Given the description of an element on the screen output the (x, y) to click on. 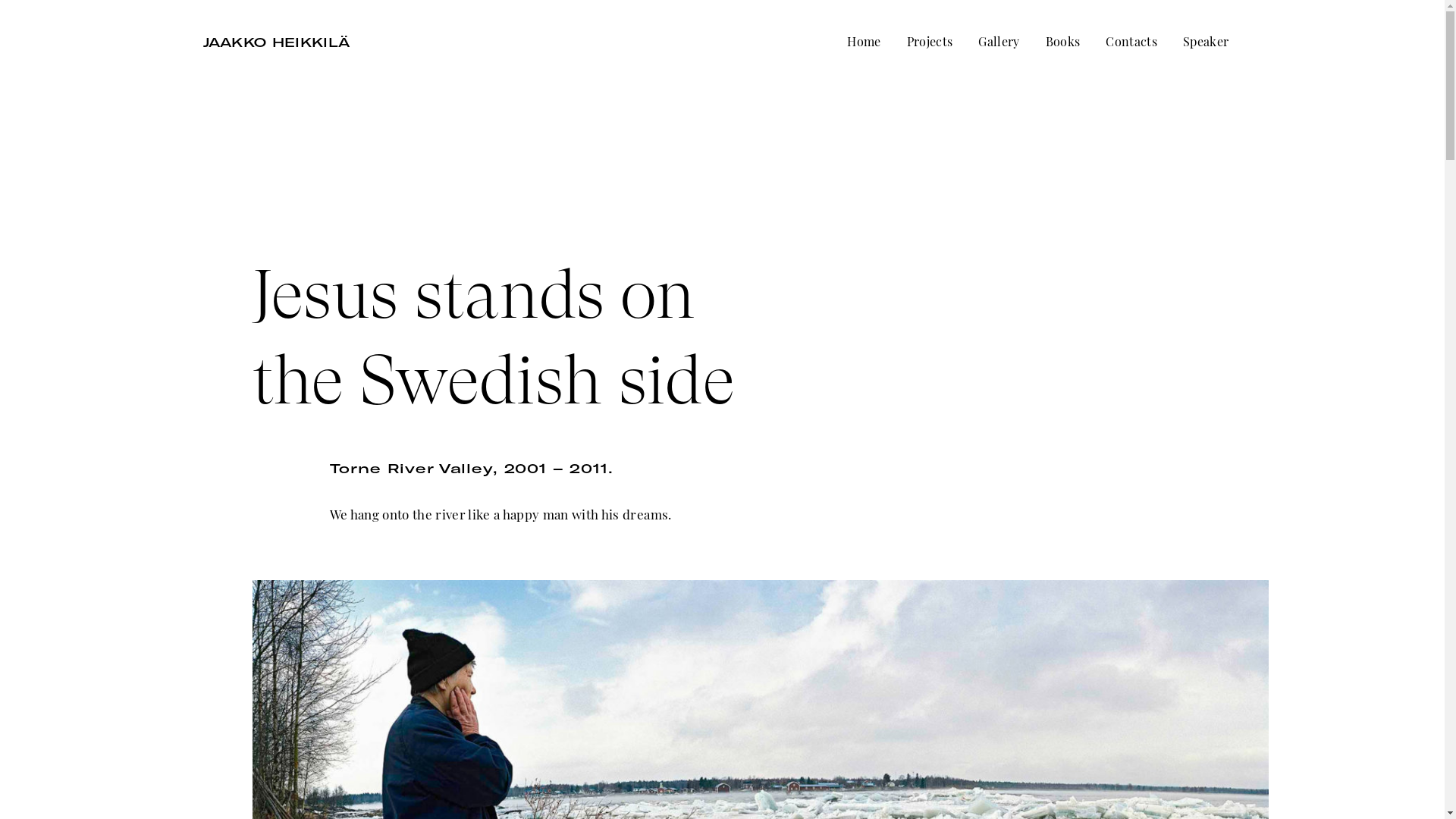
Home Element type: text (863, 42)
Contacts Element type: text (1131, 42)
Gallery Element type: text (999, 42)
Books Element type: text (1062, 42)
Speaker Element type: text (1205, 42)
Projects Element type: text (929, 42)
